Given the description of an element on the screen output the (x, y) to click on. 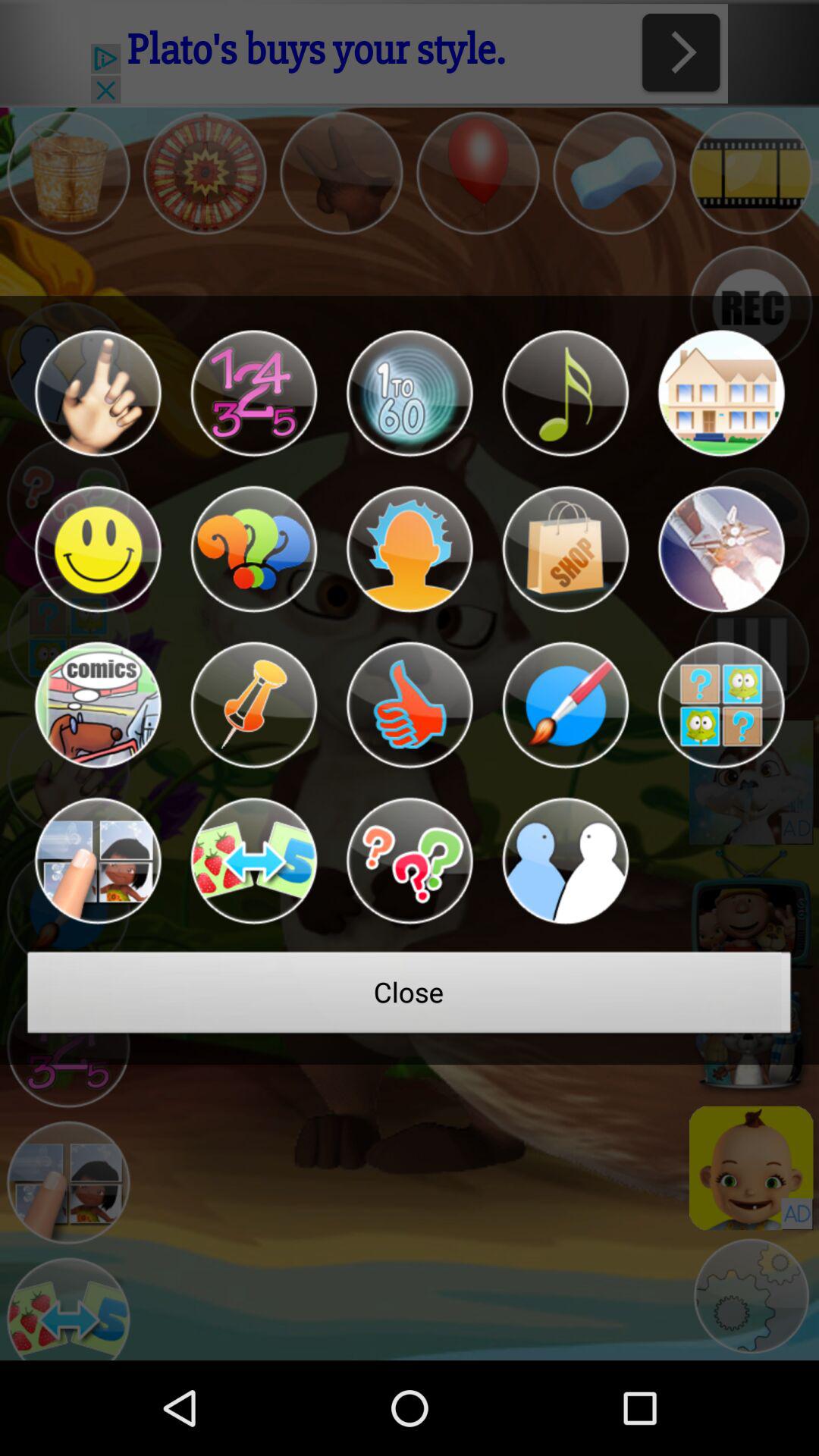
thumbs up (409, 705)
